Given the description of an element on the screen output the (x, y) to click on. 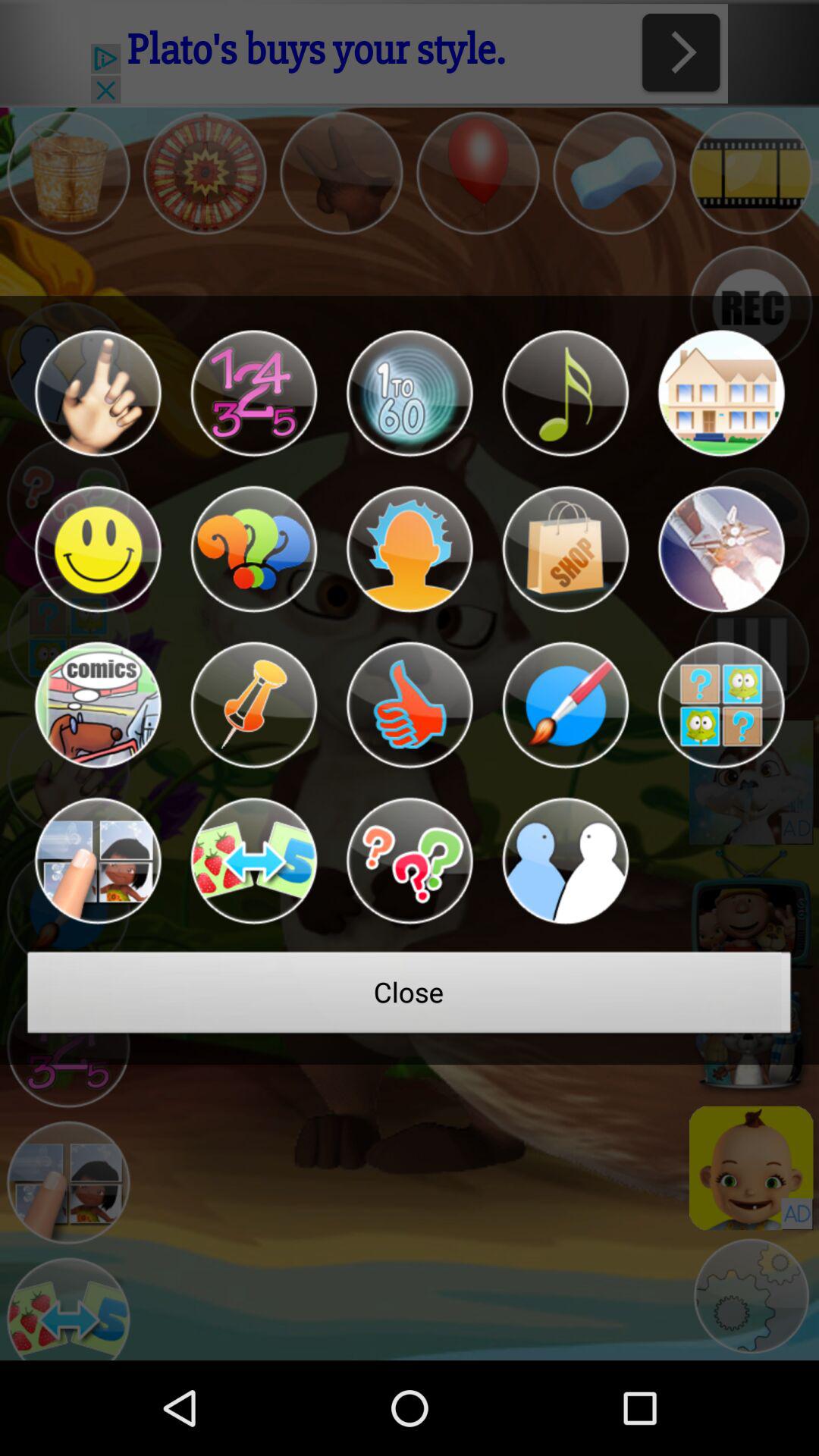
thumbs up (409, 705)
